Given the description of an element on the screen output the (x, y) to click on. 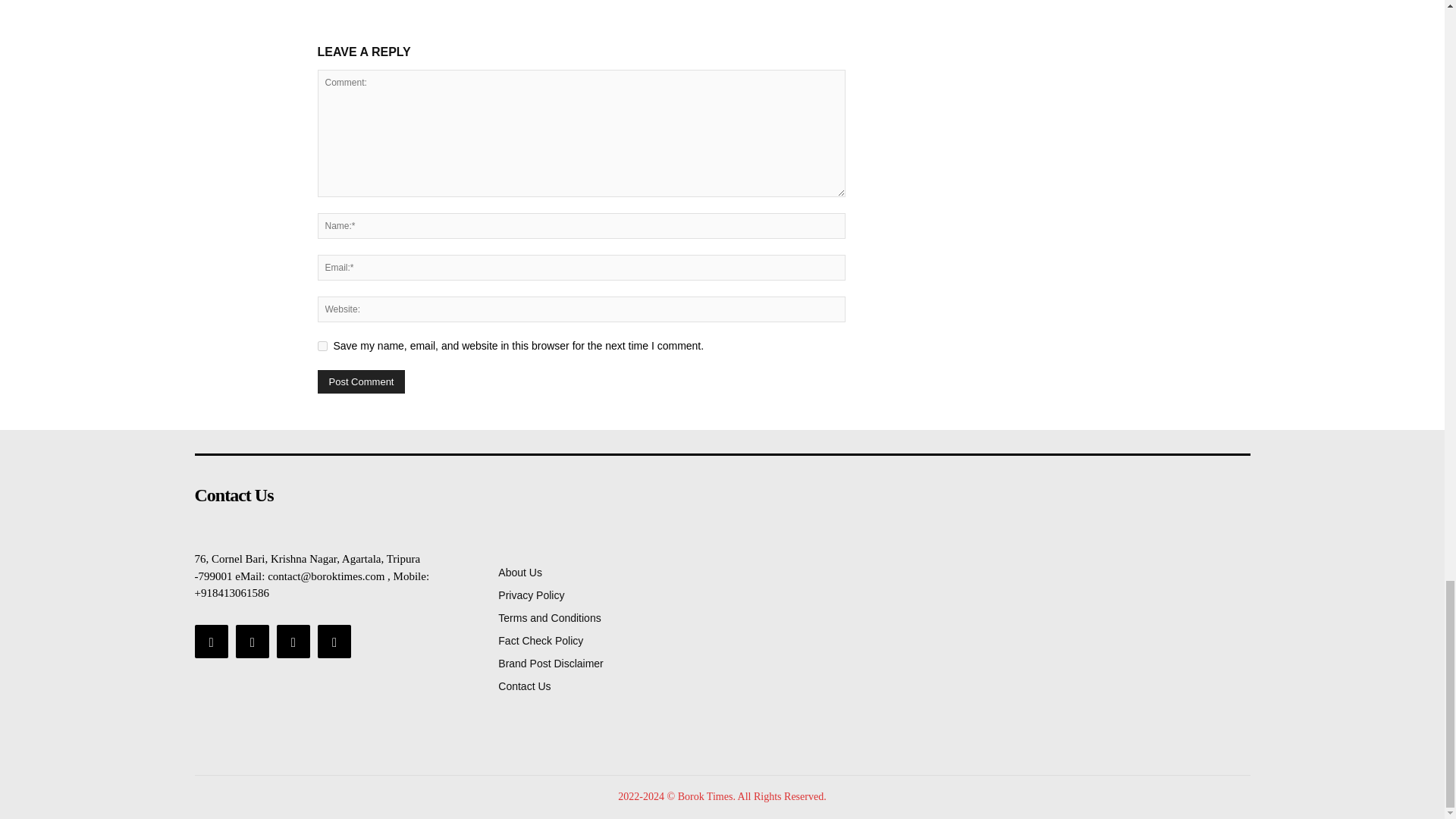
yes (321, 346)
Post Comment (360, 381)
